Given the description of an element on the screen output the (x, y) to click on. 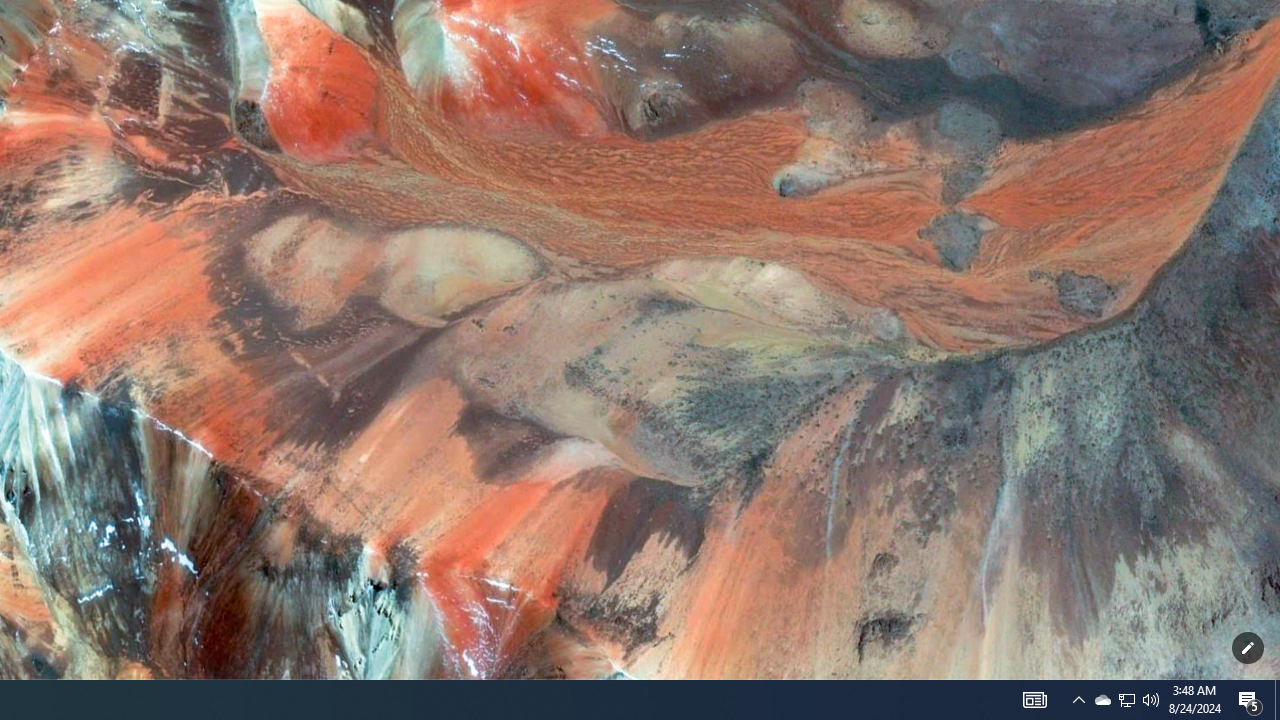
Customize this page (1247, 647)
